Given the description of an element on the screen output the (x, y) to click on. 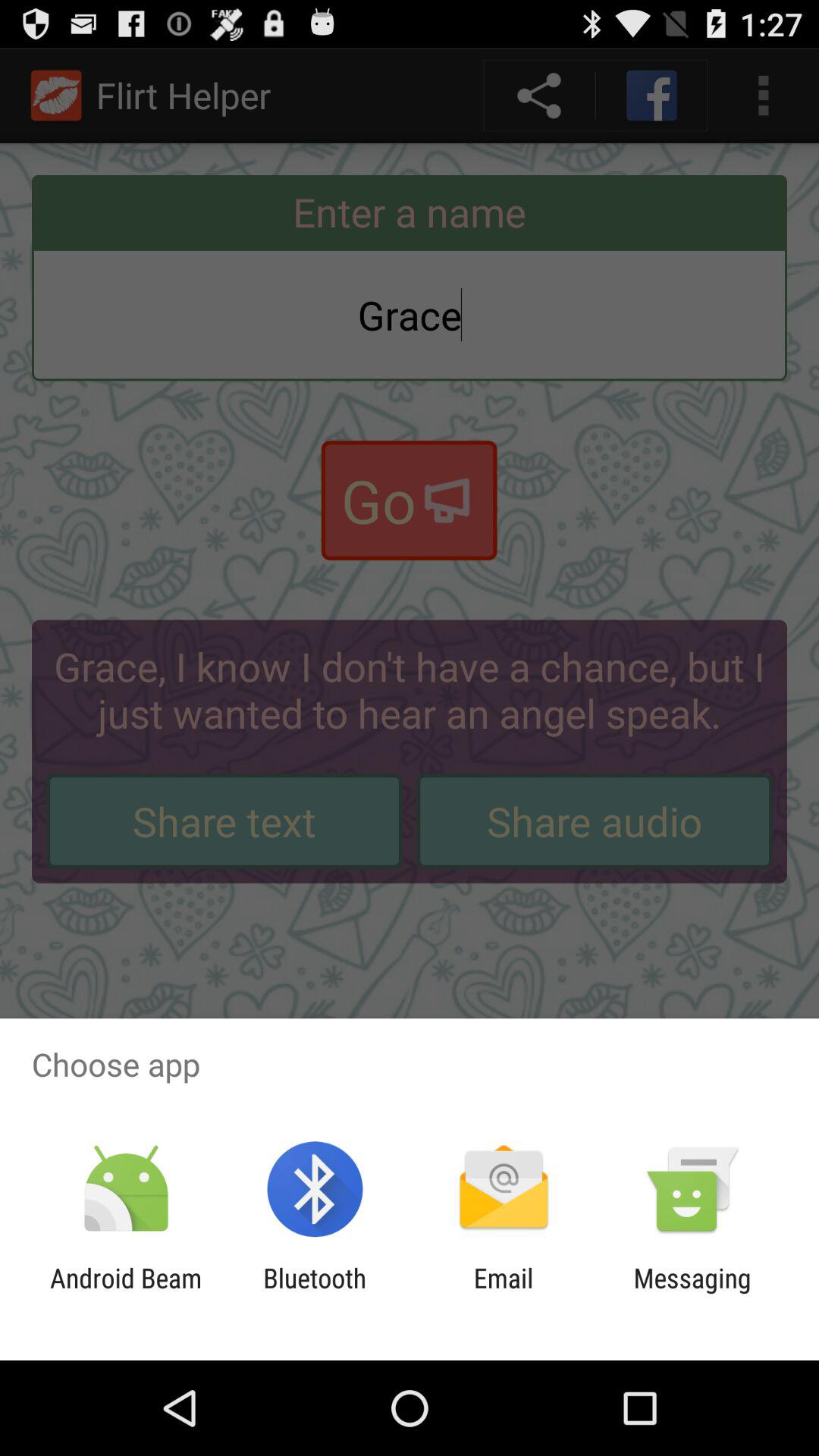
press the app to the left of the bluetooth item (125, 1293)
